Given the description of an element on the screen output the (x, y) to click on. 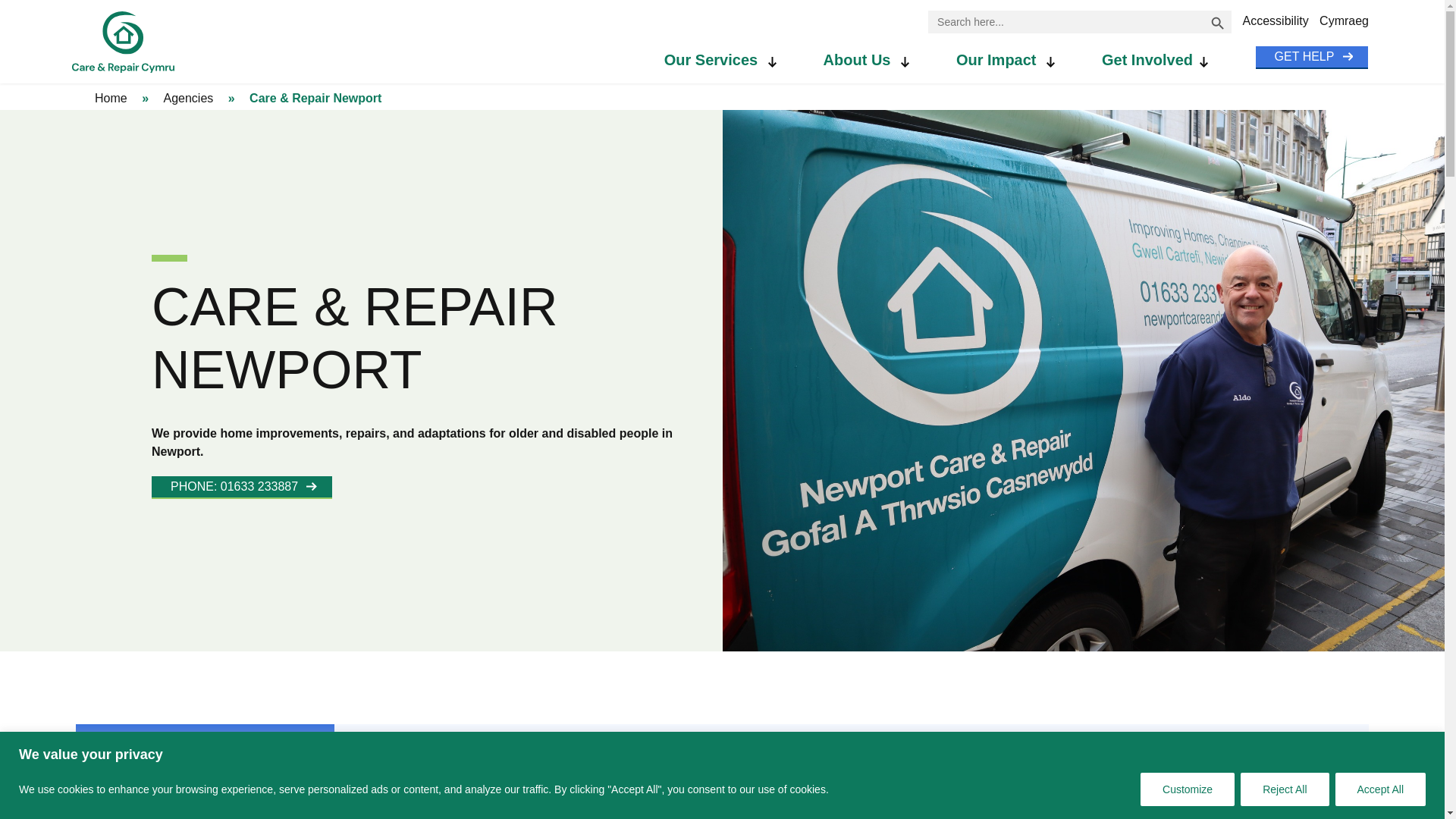
Reject All (1283, 788)
Our Impact (1015, 58)
Our Services (728, 58)
Search Button (1217, 21)
Accept All (1380, 788)
About Us (876, 58)
Customize (1187, 788)
Cymraeg (1343, 21)
Accessibility (1274, 21)
